Given the description of an element on the screen output the (x, y) to click on. 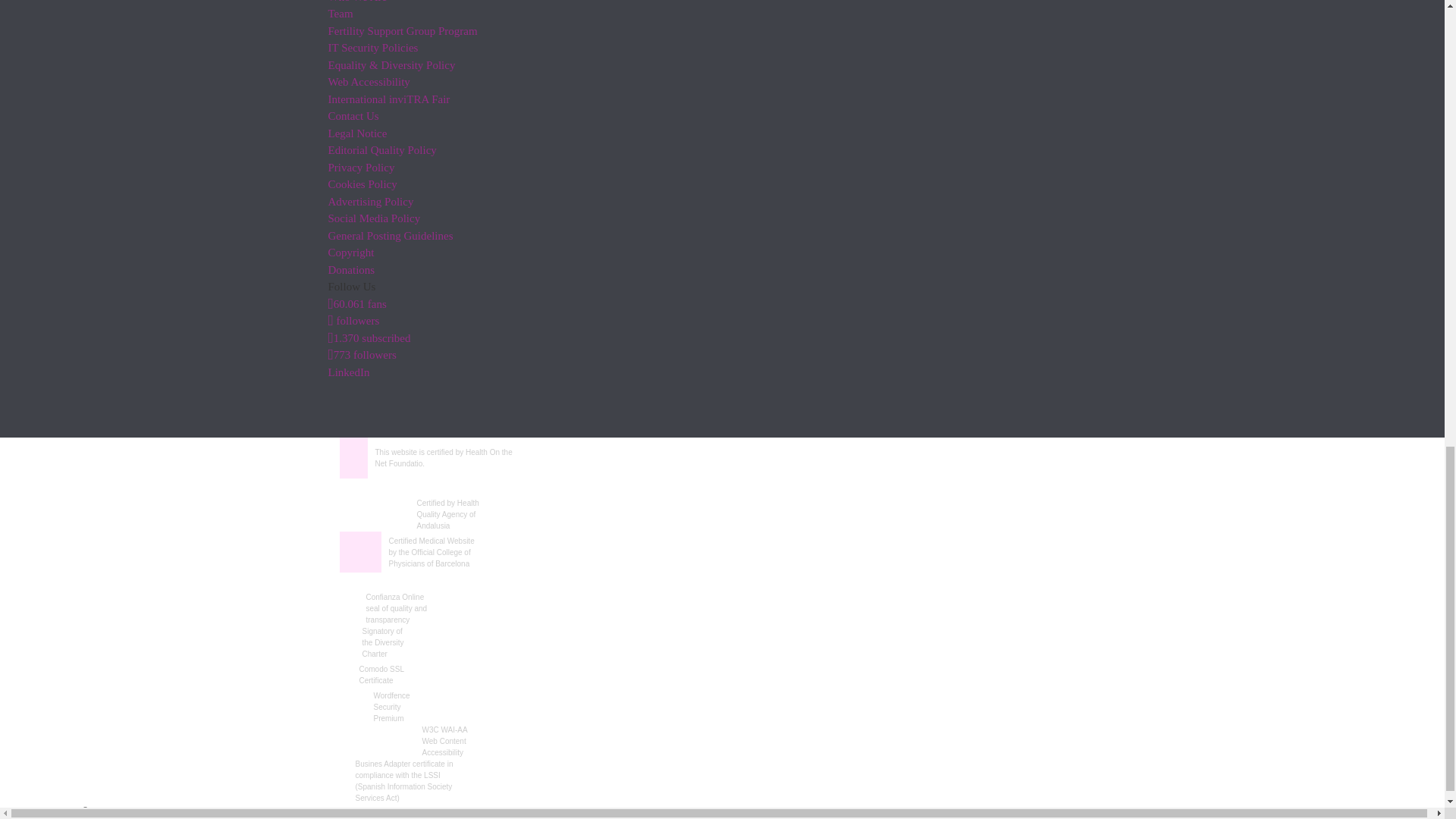
LinkedIn  (348, 372)
Youtube (368, 337)
Facebook (356, 304)
Twitter (352, 320)
Instagram (361, 354)
